Given the description of an element on the screen output the (x, y) to click on. 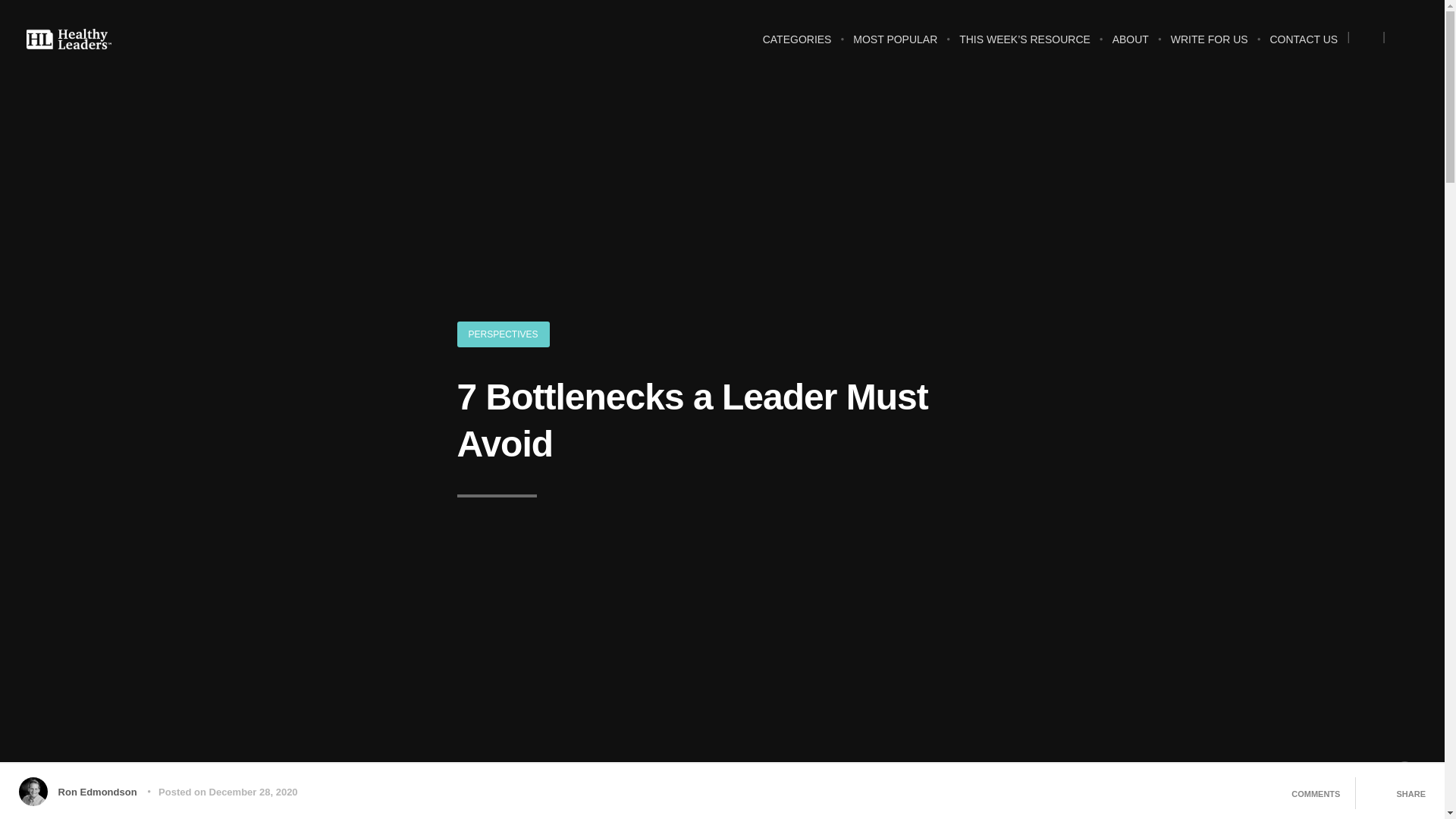
PERSPECTIVES (502, 334)
CATEGORIES (797, 43)
ABOUT (1130, 43)
WRITE FOR US (1209, 43)
CONTACT US (1303, 43)
MOST POPULAR (895, 43)
